Given the description of an element on the screen output the (x, y) to click on. 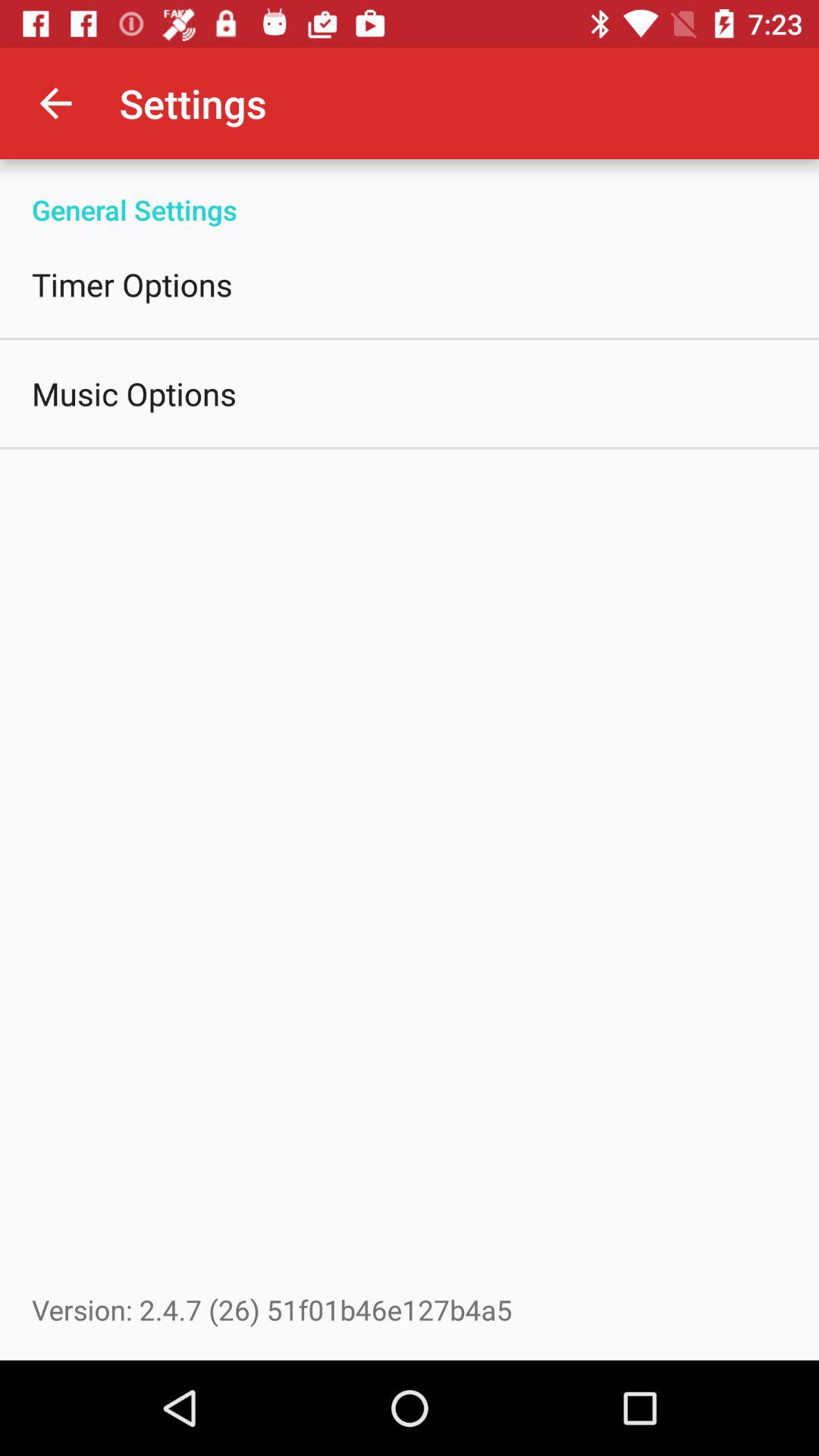
flip to general settings icon (409, 193)
